Given the description of an element on the screen output the (x, y) to click on. 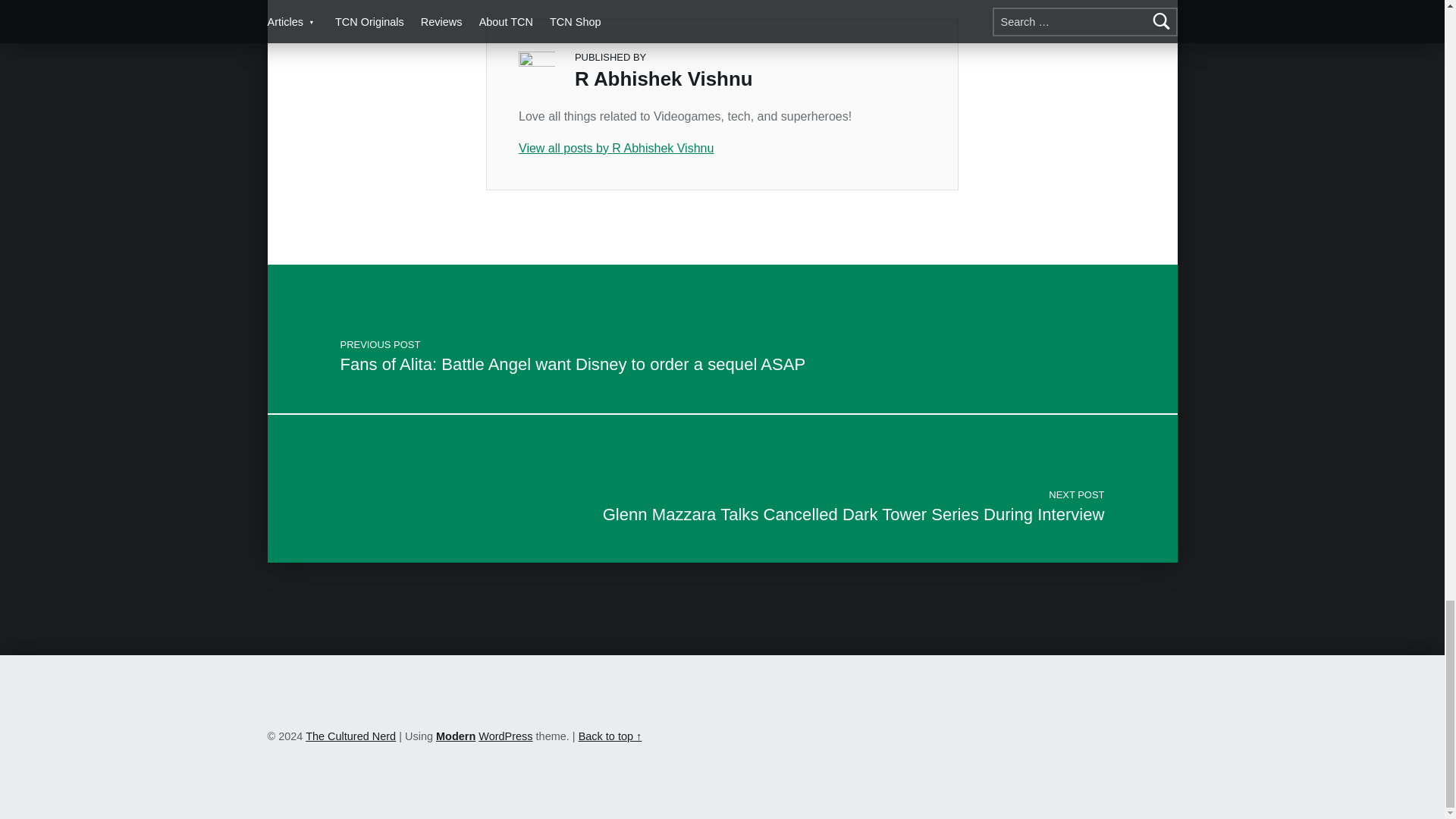
Modern (455, 736)
The Cultured Nerd (350, 736)
WordPress (505, 736)
View all posts by R Abhishek Vishnu (722, 148)
